Given the description of an element on the screen output the (x, y) to click on. 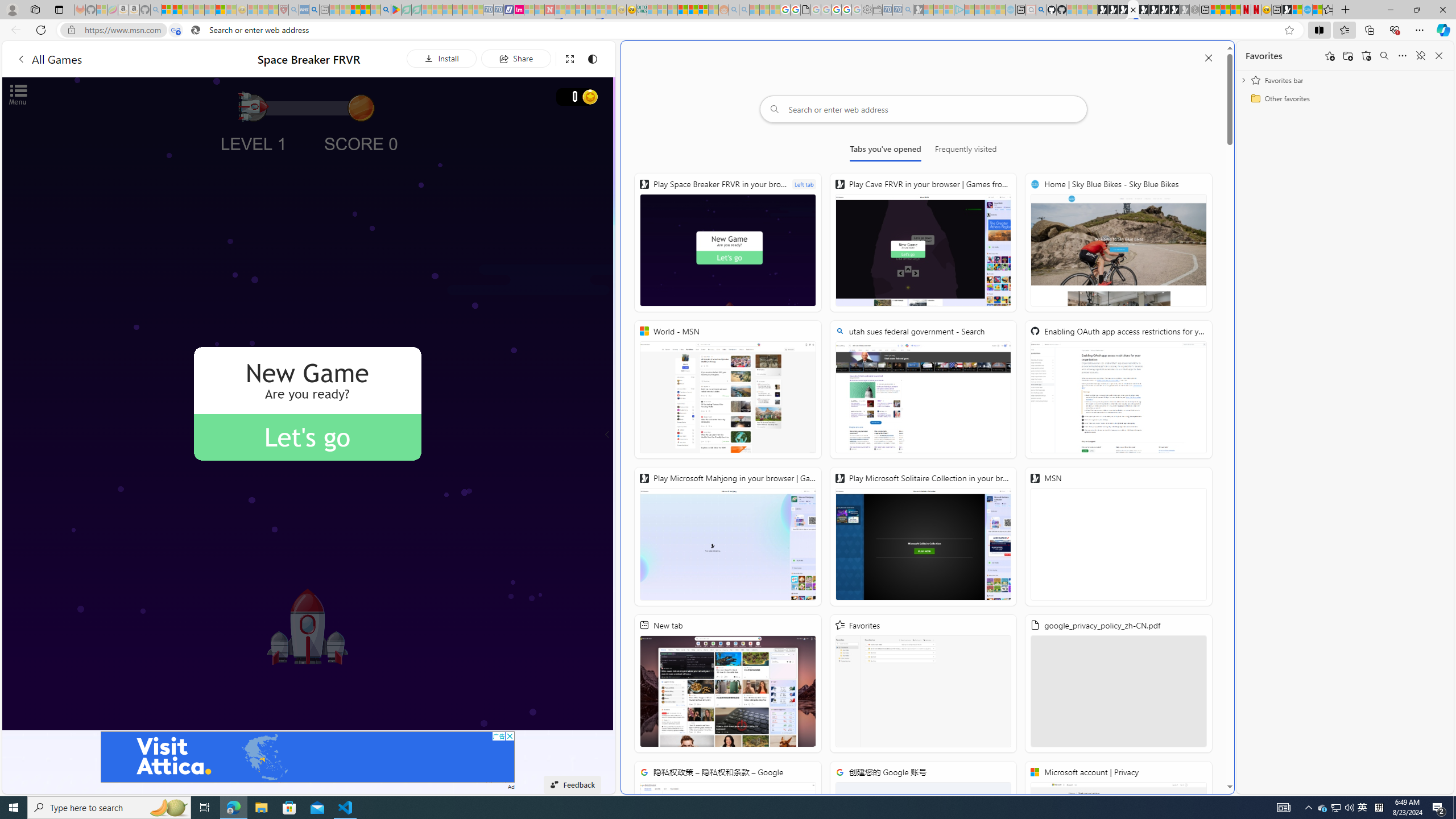
All Games (49, 58)
Search or enter web address (922, 108)
Close split screen (1208, 57)
Jobs - lastminute.com Investor Portal (518, 9)
